Given the description of an element on the screen output the (x, y) to click on. 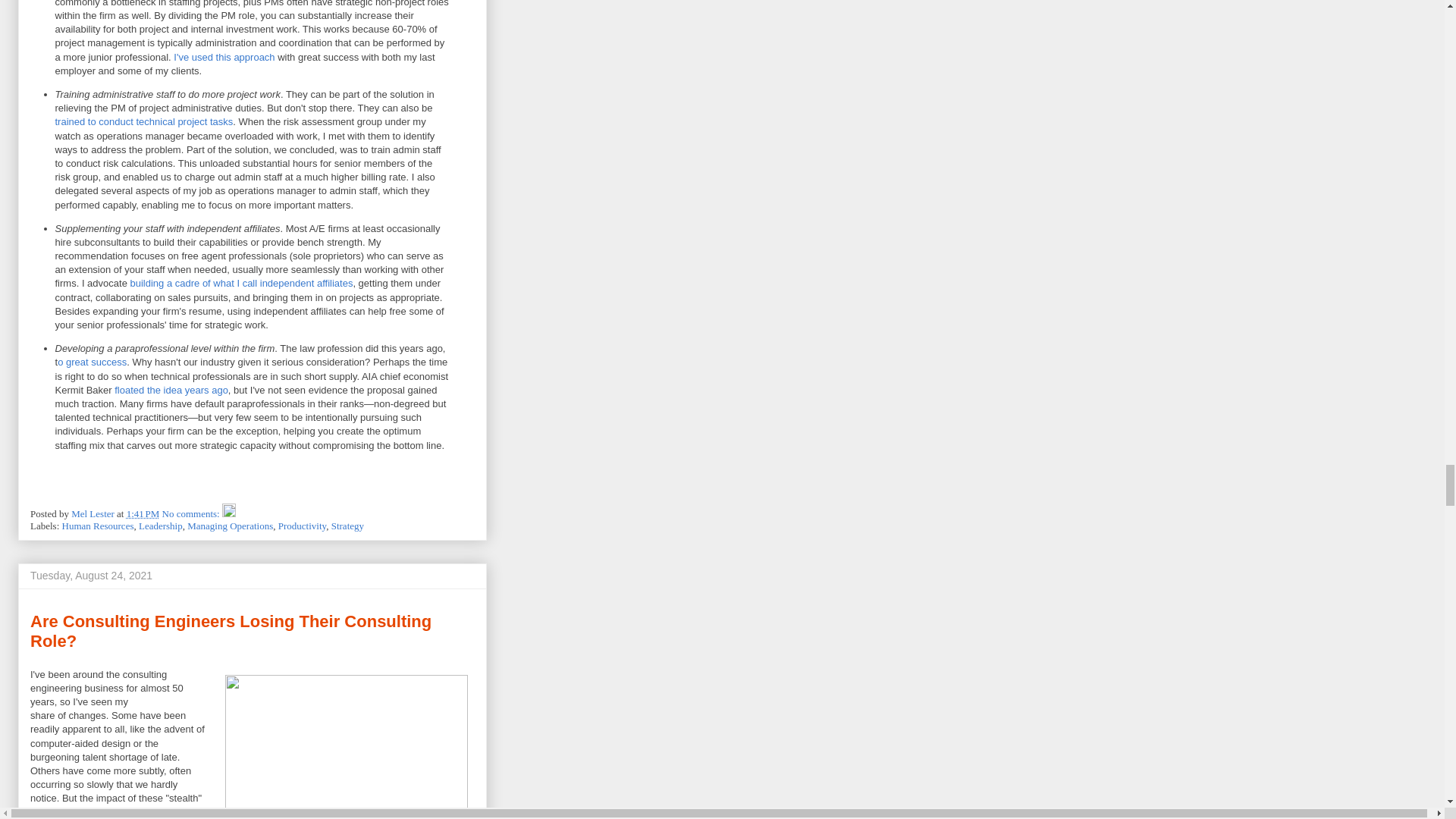
author profile (93, 513)
